Given the description of an element on the screen output the (x, y) to click on. 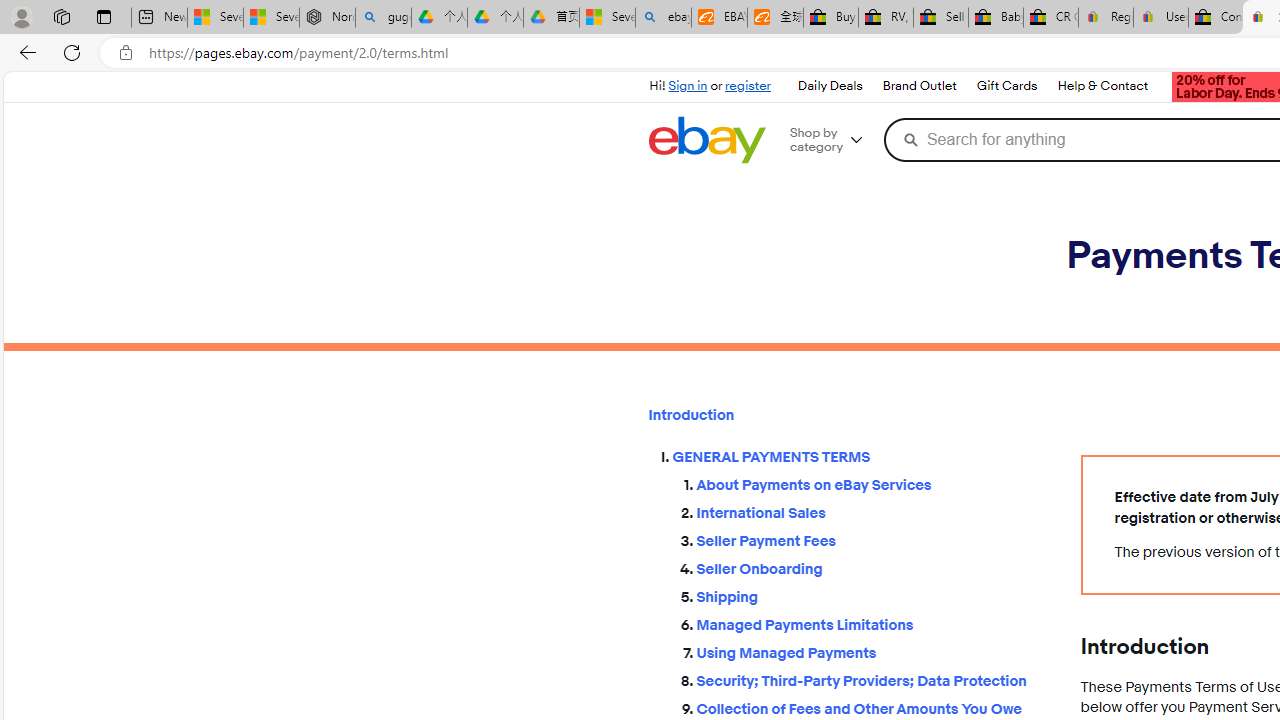
Gift Cards (1006, 85)
Seller Onboarding (872, 565)
Register: Create a personal eBay account (1105, 17)
Seller Payment Fees (872, 537)
Using Managed Payments (872, 649)
International Sales (872, 513)
Collection of Fees and Other Amounts You Owe (872, 709)
register (747, 85)
